Given the description of an element on the screen output the (x, y) to click on. 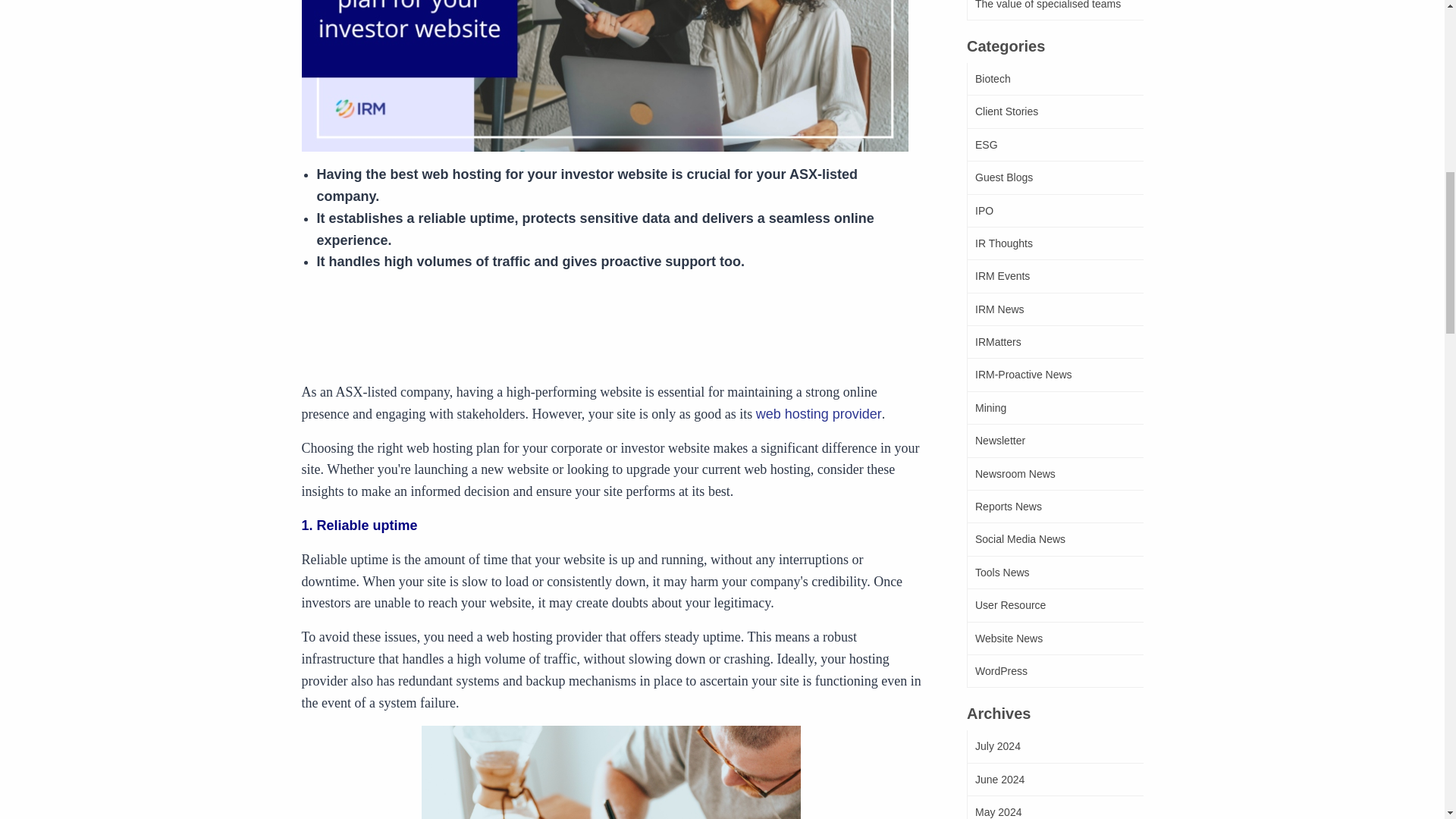
IPO (1054, 210)
Client Stories (1054, 111)
Newsletter (1054, 441)
IRM-Proactive News (1054, 374)
IRM News (1054, 309)
Mining (1054, 408)
IRMatters (1054, 341)
ESG (1054, 144)
IRM Events (1054, 276)
